Given the description of an element on the screen output the (x, y) to click on. 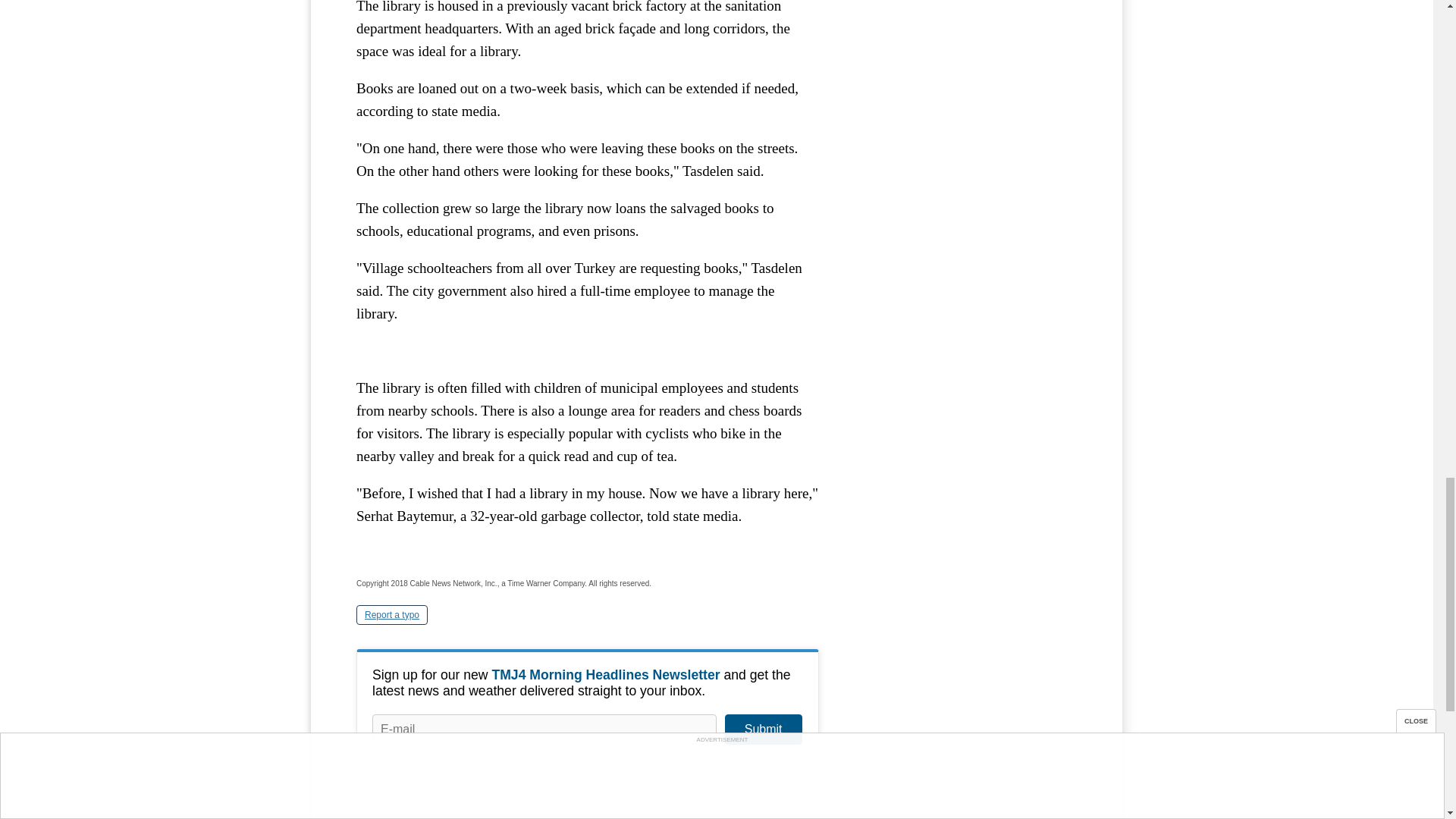
Submit (763, 729)
